Given the description of an element on the screen output the (x, y) to click on. 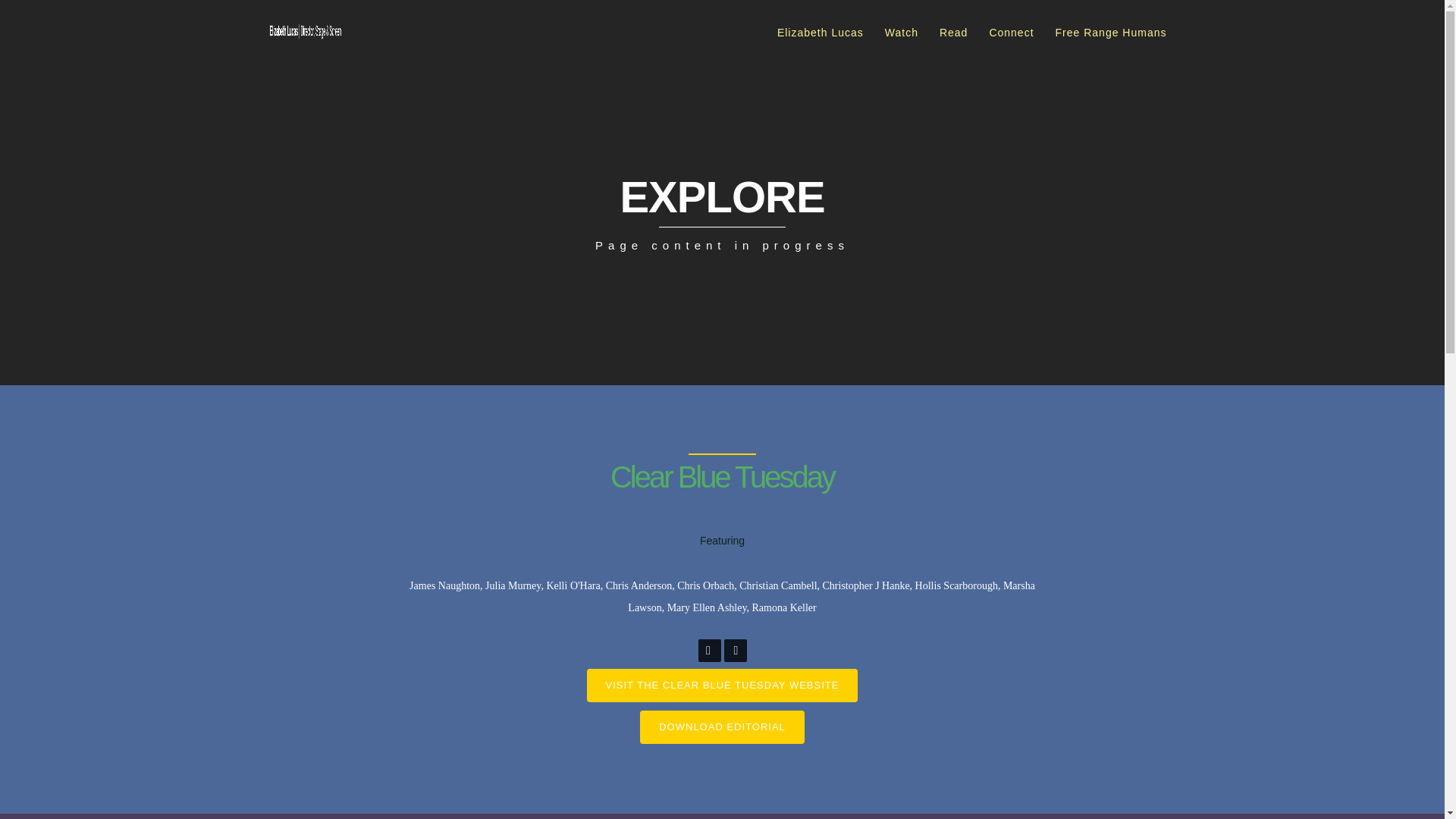
Connect (1010, 33)
DOWNLOAD EDITORIAL (722, 726)
VISIT THE CLEAR BLUE TUESDAY WEBSITE (722, 685)
Elizabeth Lucas (821, 33)
Free Range Humans (1111, 33)
Watch (901, 33)
Read (953, 33)
